Given the description of an element on the screen output the (x, y) to click on. 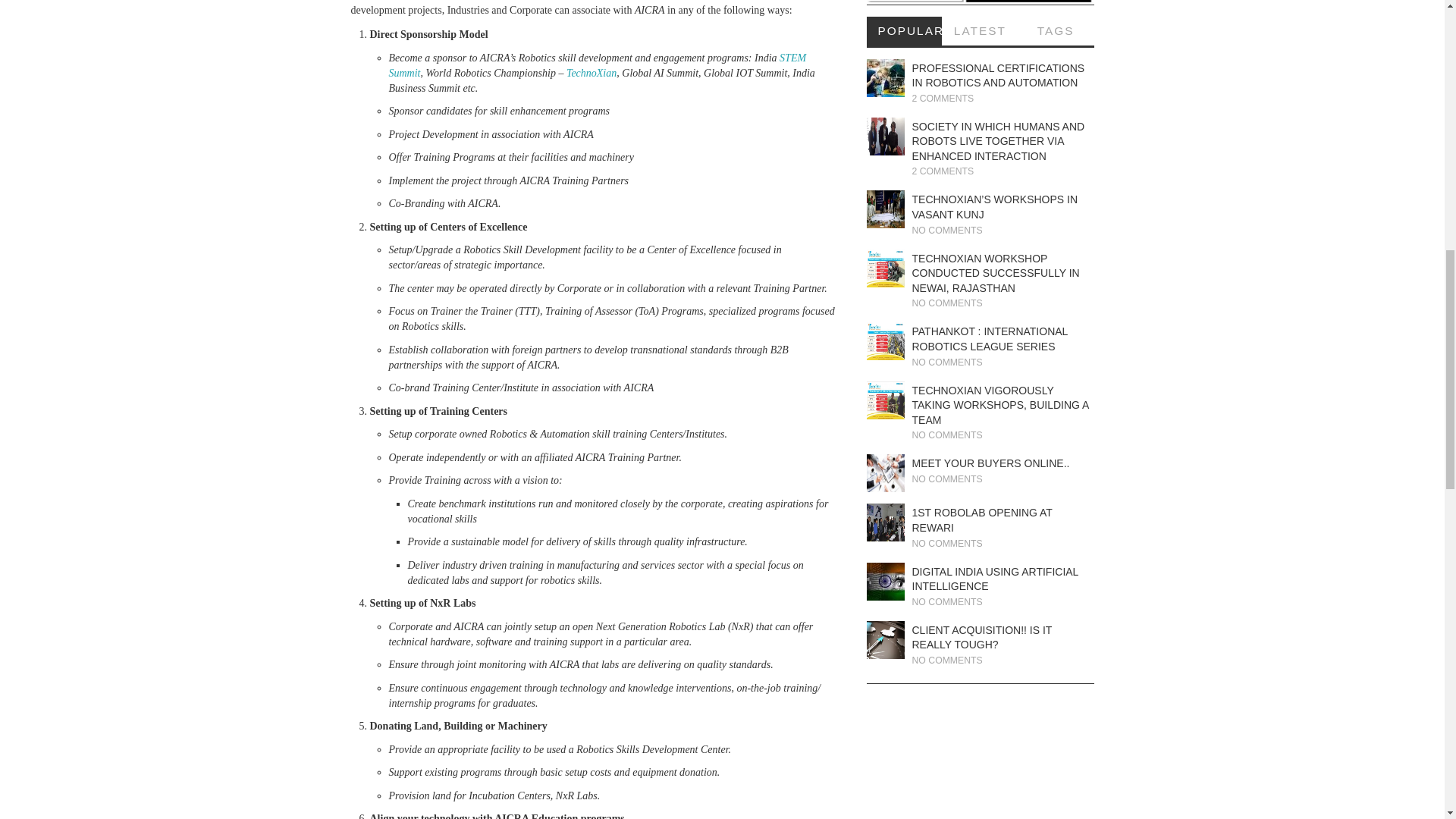
Professional Certifications in Robotics and Automation (885, 77)
TechnoXian (590, 72)
STEM Summit (597, 65)
Professional Certifications in Robotics and Automation (997, 75)
